Given the description of an element on the screen output the (x, y) to click on. 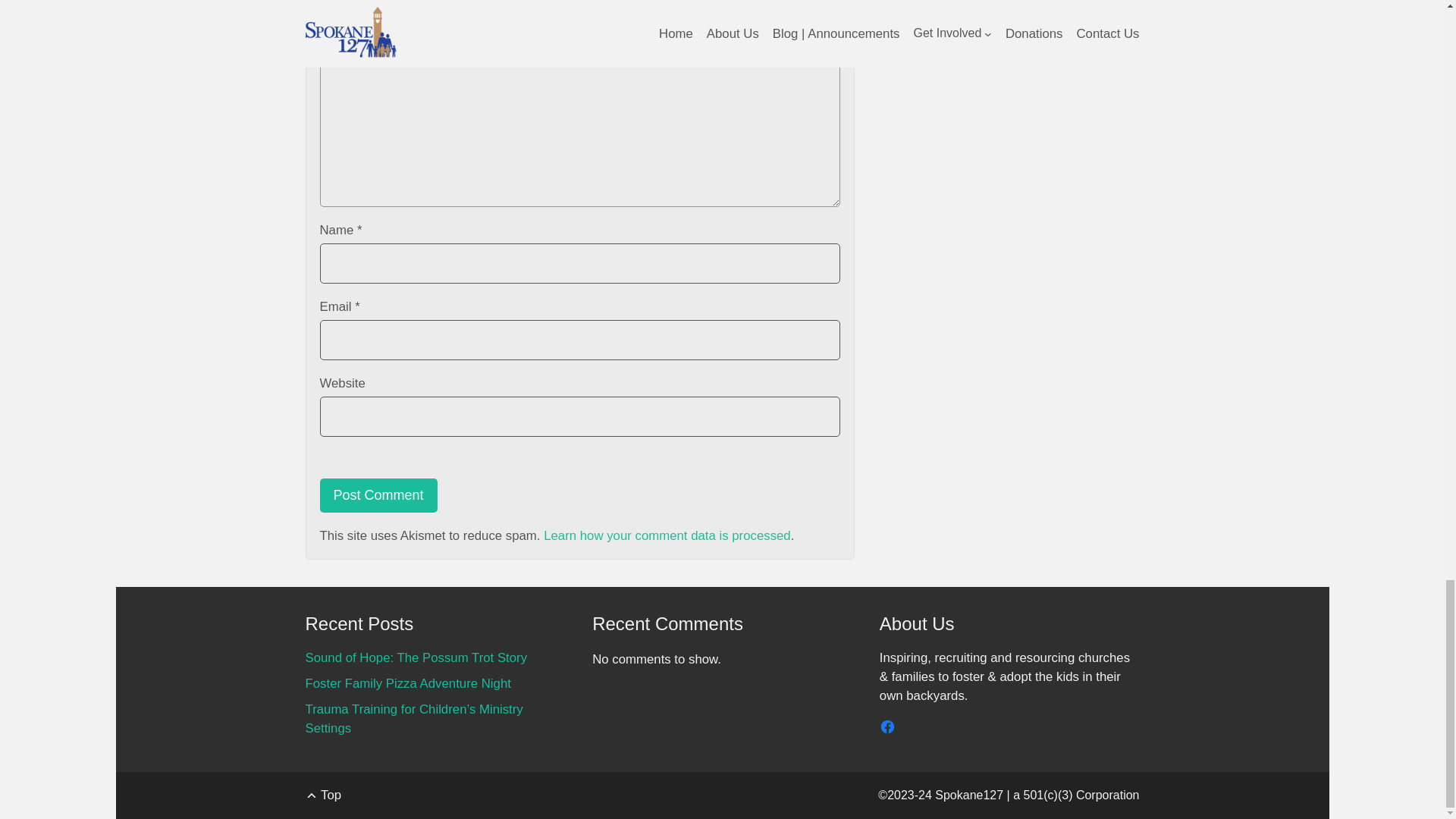
Post Comment (379, 495)
Post Comment (379, 495)
Learn how your comment data is processed (666, 535)
